Given the description of an element on the screen output the (x, y) to click on. 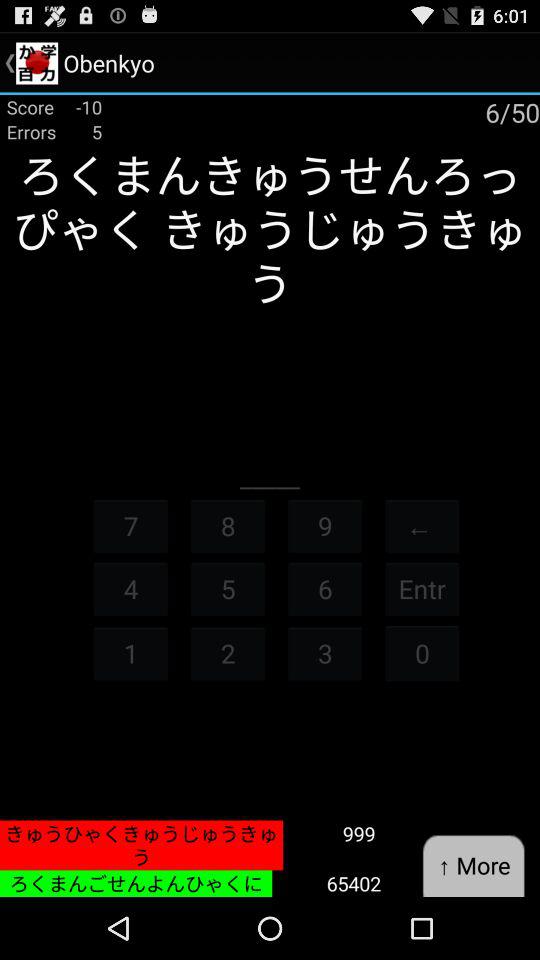
swipe until 4 icon (130, 588)
